Given the description of an element on the screen output the (x, y) to click on. 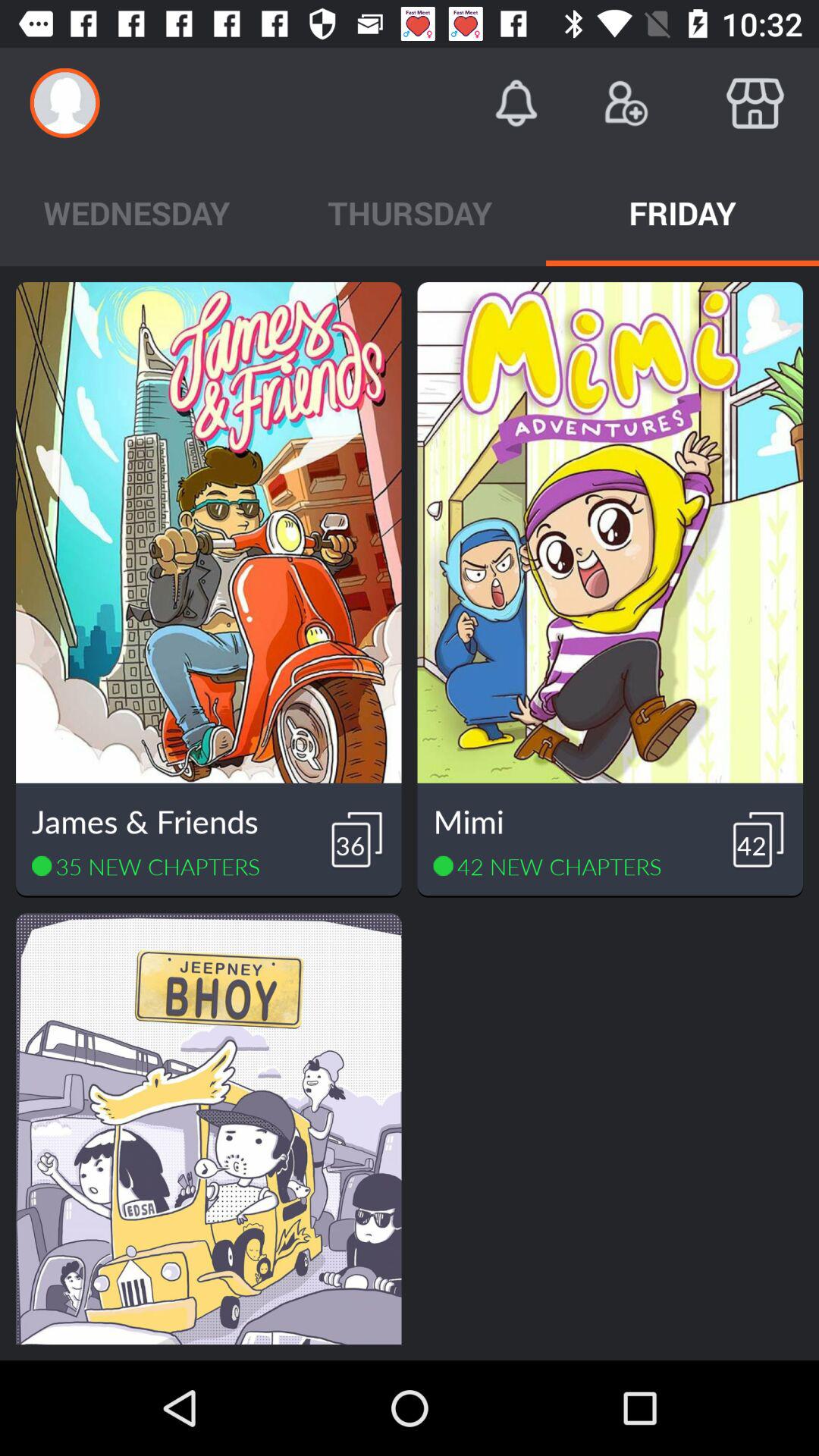
press the icon next to thursday (682, 212)
